Given the description of an element on the screen output the (x, y) to click on. 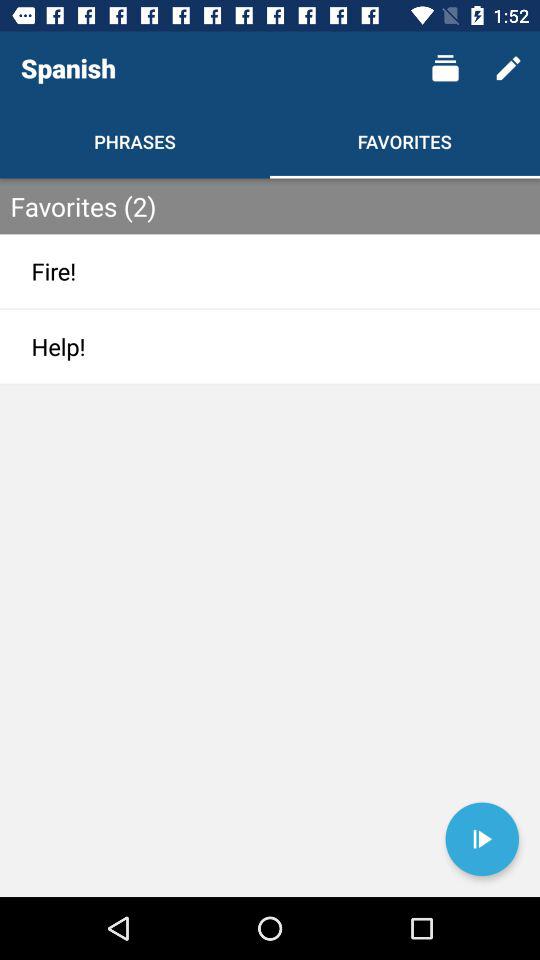
open the item at the bottom right corner (482, 839)
